Given the description of an element on the screen output the (x, y) to click on. 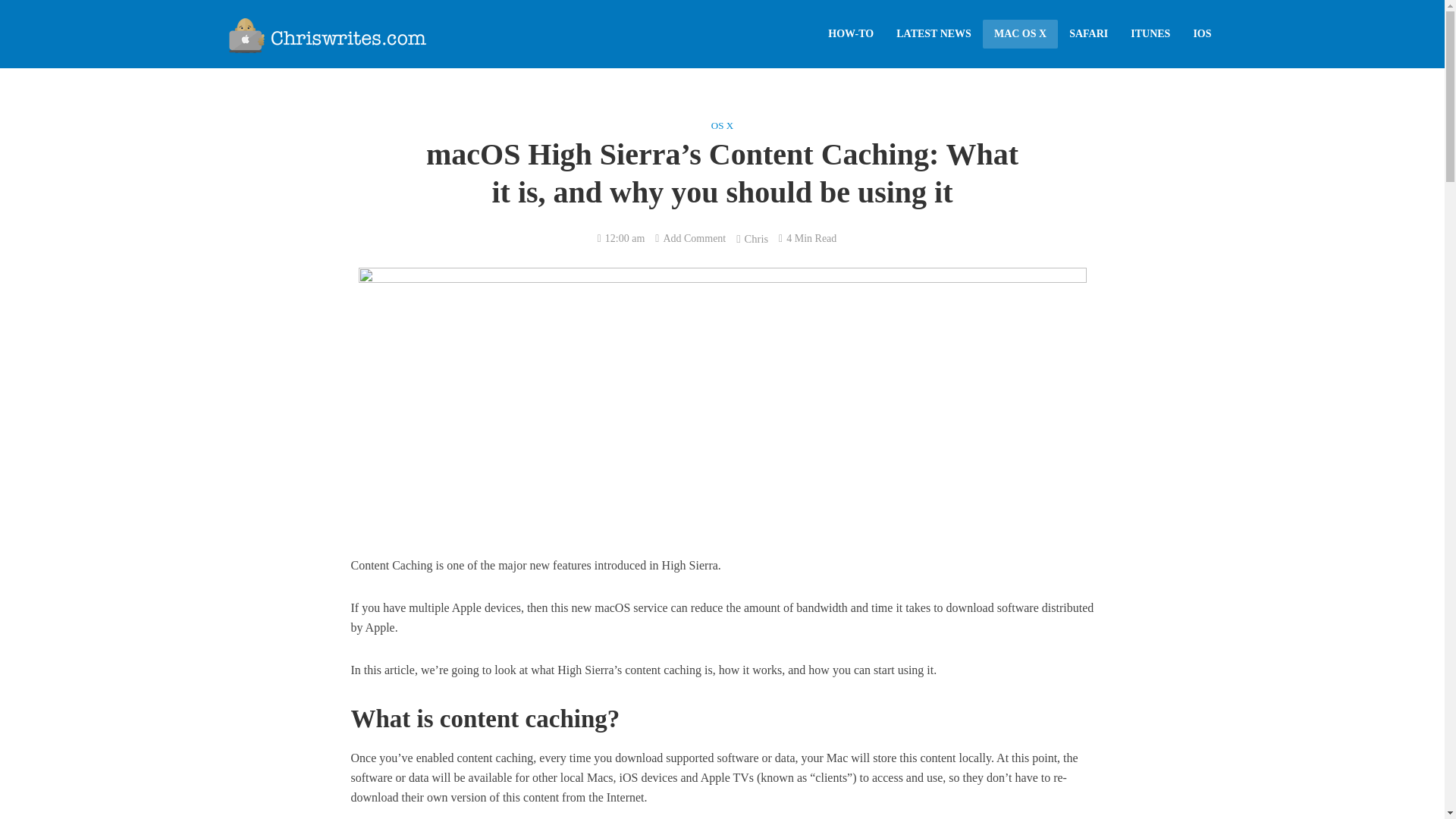
Add Comment (693, 239)
IOS (1201, 33)
Chris (756, 240)
ITUNES (1149, 33)
SAFARI (1088, 33)
HOW-TO (850, 33)
OS X (722, 126)
LATEST NEWS (933, 33)
MAC OS X (1020, 33)
